Given the description of an element on the screen output the (x, y) to click on. 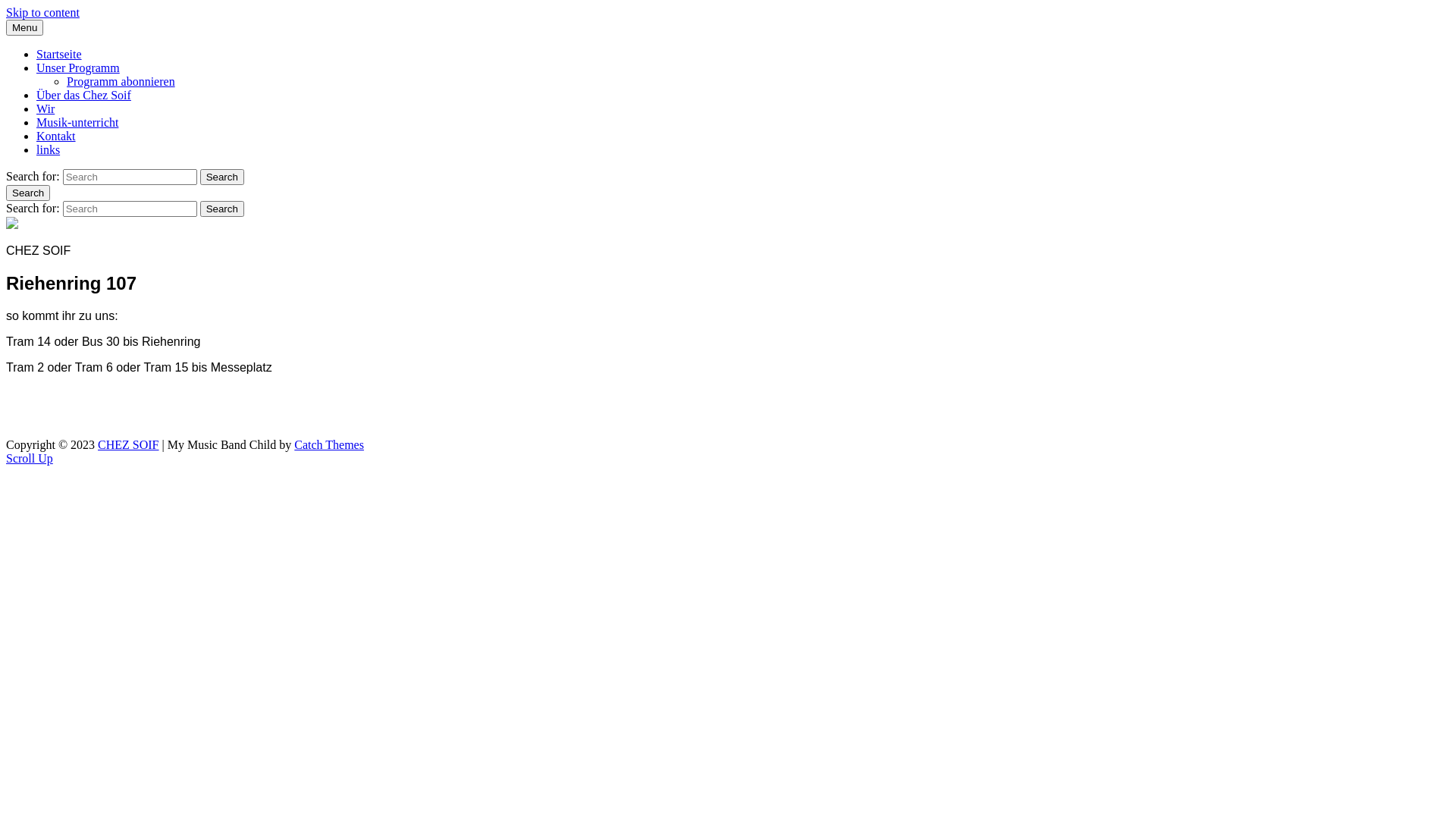
CHEZ SOIF Element type: text (38, 37)
Search Element type: text (28, 192)
Skip to content Element type: text (42, 12)
Unser Programm Element type: text (77, 67)
links Element type: text (47, 149)
Programm abonnieren Element type: text (120, 81)
Wir Element type: text (45, 108)
Startseite Element type: text (58, 53)
Menu Element type: text (24, 27)
Musik-unterricht Element type: text (77, 122)
Catch Themes Element type: text (329, 444)
Scroll Up Element type: text (29, 457)
Search Element type: text (222, 208)
Kontakt Element type: text (55, 135)
Search Element type: text (222, 177)
CHEZ SOIF Element type: text (127, 444)
